Given the description of an element on the screen output the (x, y) to click on. 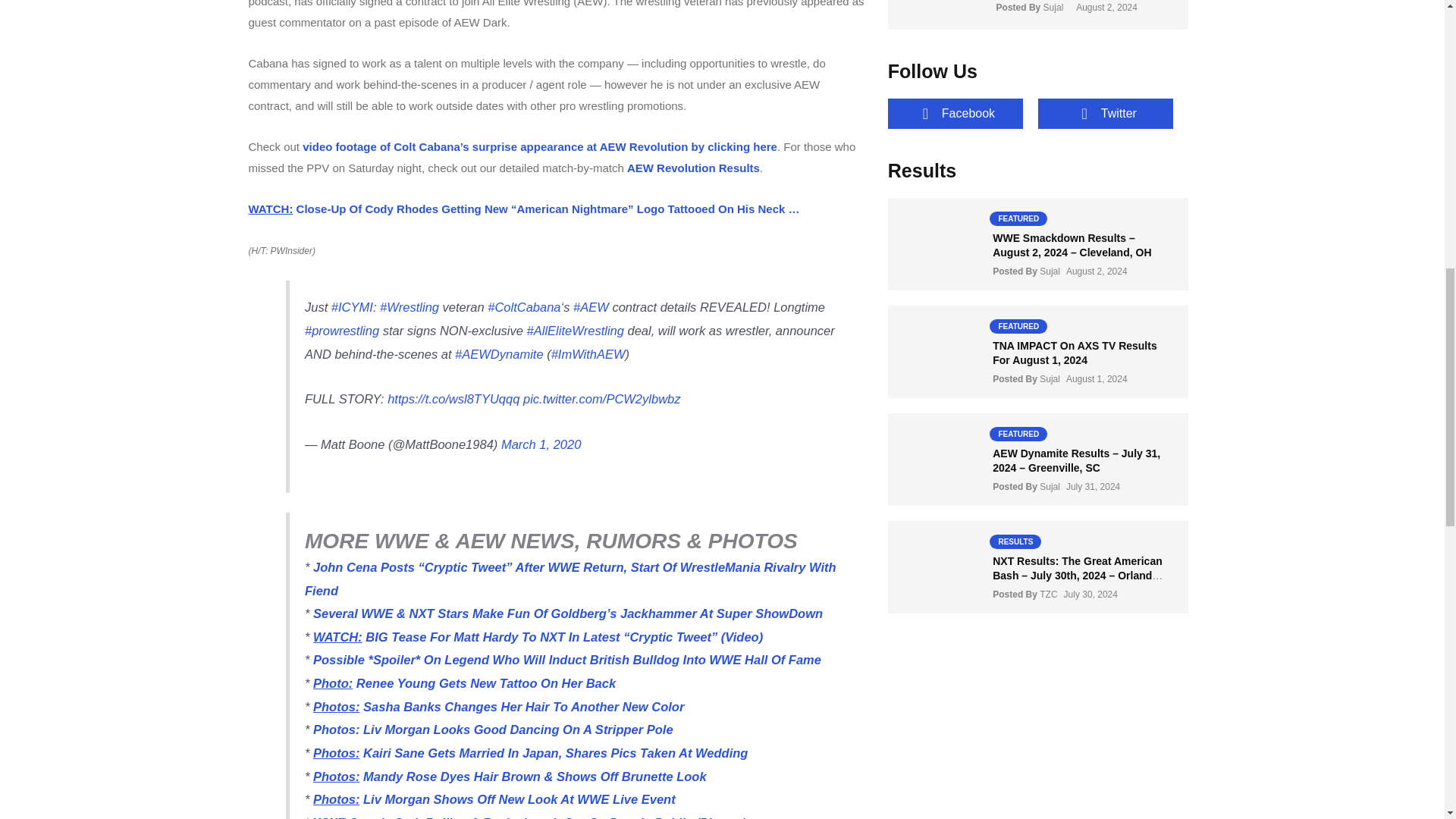
March 1, 2020 (540, 444)
Posts by TZC (1048, 593)
AEW Revolution Results (693, 167)
TNA IMPACT On AXS TV Results For August 1, 2024 (1074, 352)
Posts by Sujal (1049, 378)
Posts by Sujal (1049, 271)
Posts by Sujal (1049, 486)
